Given the description of an element on the screen output the (x, y) to click on. 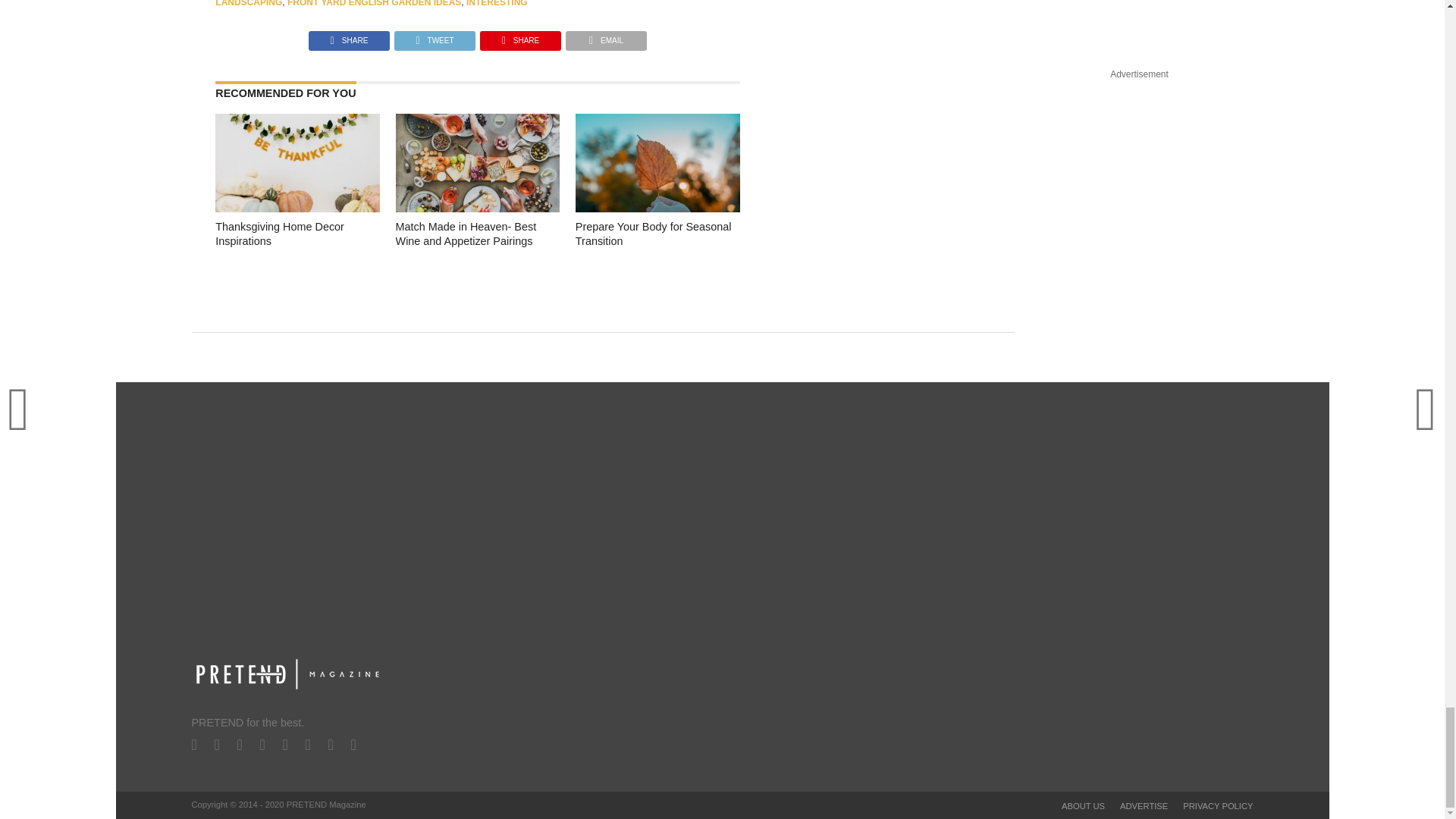
FRONT YARD ENGLISH GARDEN IDEAS (373, 3)
TWEET (434, 36)
ENGLISH LANDSCAPING (448, 3)
SHARE (349, 36)
INTERESTING (496, 3)
